Given the description of an element on the screen output the (x, y) to click on. 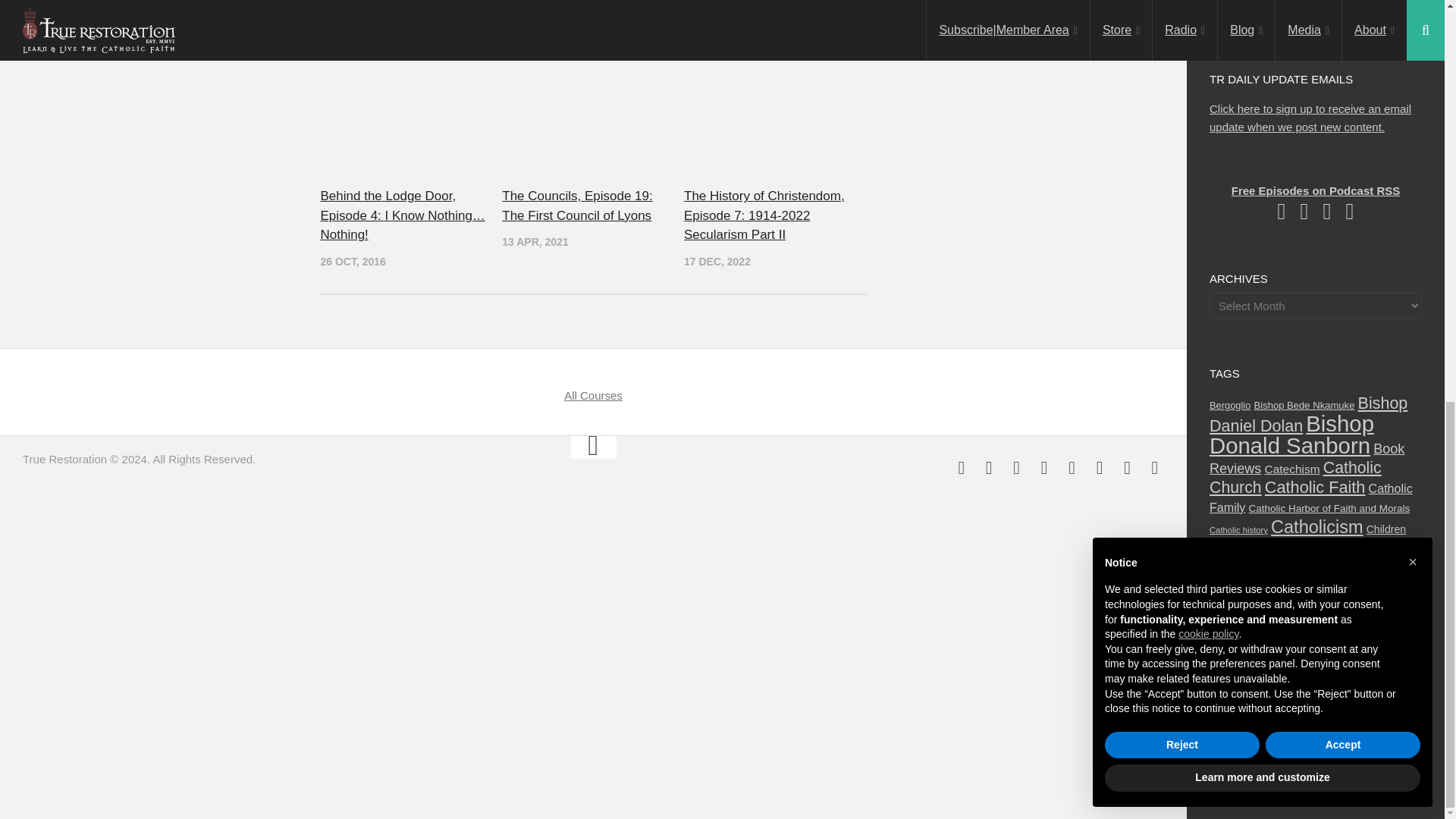
YouTube (1043, 467)
iTunes - Free Episodes (1099, 467)
Twitter (1016, 467)
The Councils, Episode 19: The First Council of Lyons (592, 123)
SoundCloud - Free Episodes (1127, 467)
Instagram (988, 467)
The Councils, Episode 19: The First Council of Lyons (577, 205)
Facebook (961, 467)
Log Me In (1237, 16)
RSS Article Feed (1071, 467)
